Given the description of an element on the screen output the (x, y) to click on. 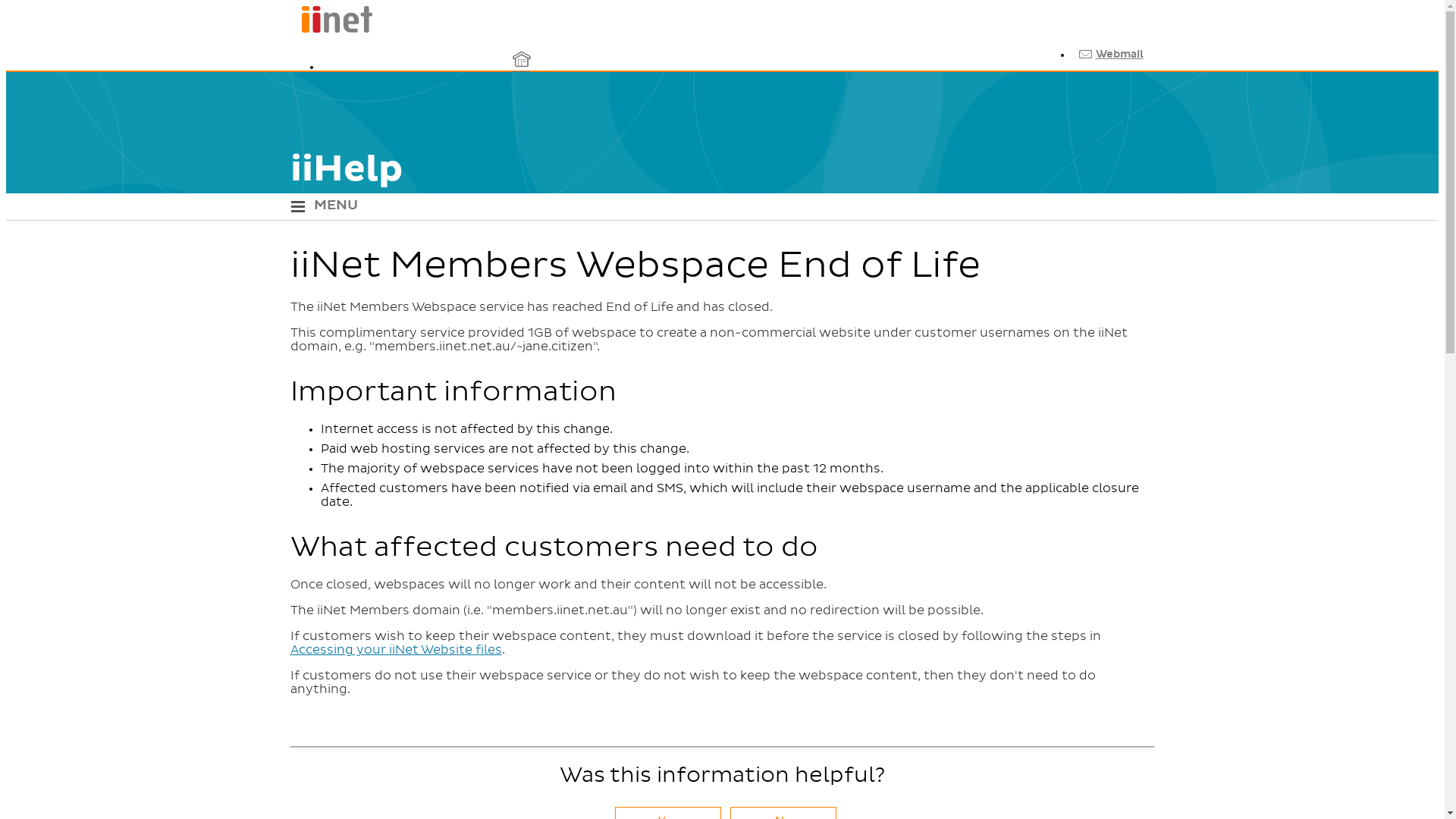
Residential Element type: text (520, 64)
Customers Element type: text (520, 138)
Toolbox Element type: text (1104, 79)
Business Element type: text (520, 101)
Webmail Element type: text (1108, 54)
Skip to main content Element type: text (722, 7)
Home Element type: hover (330, 29)
Accessing your iiNet Website files Element type: text (395, 649)
